Given the description of an element on the screen output the (x, y) to click on. 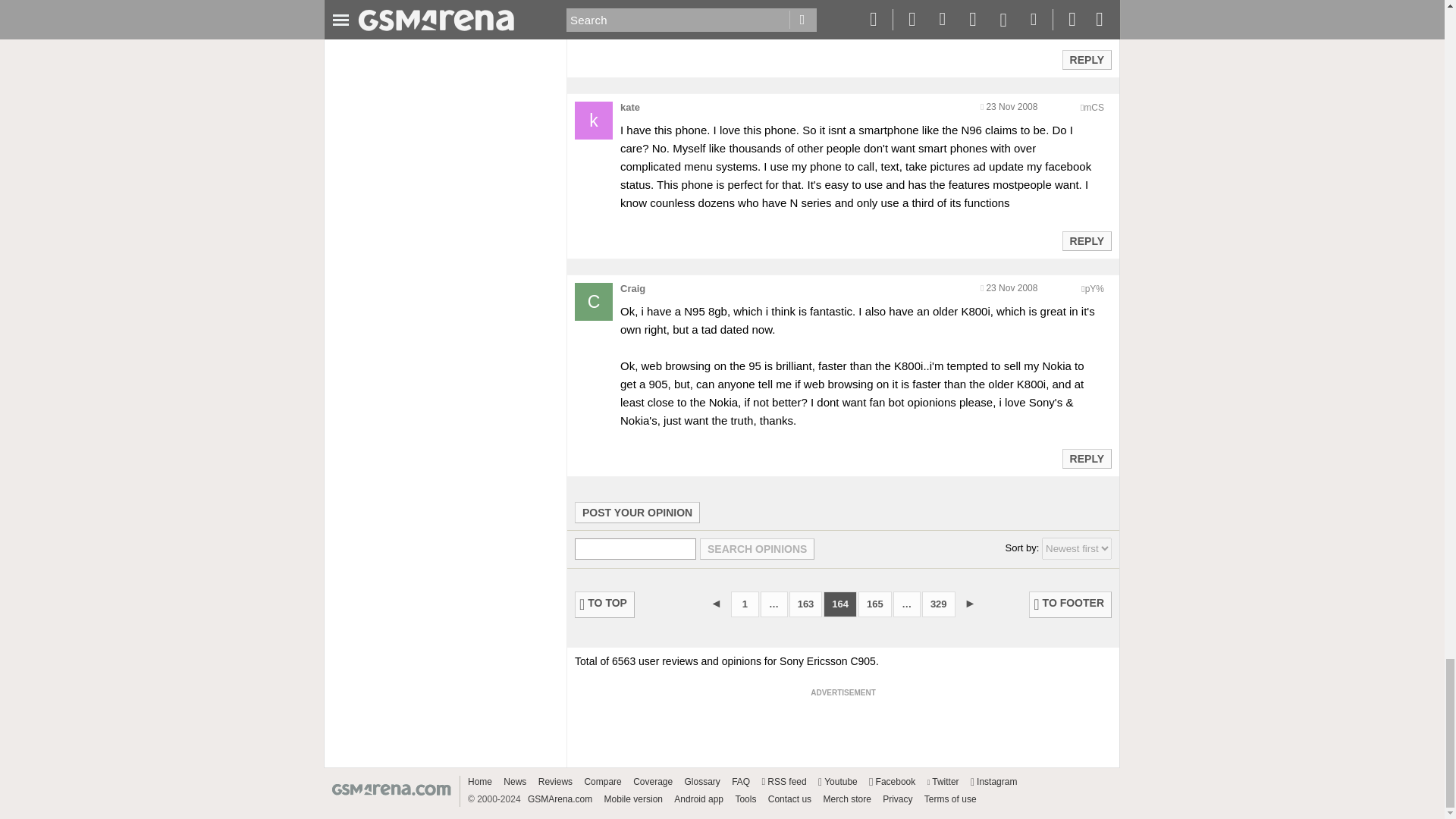
TO TOP (604, 604)
Search opinions (756, 548)
